Given the description of an element on the screen output the (x, y) to click on. 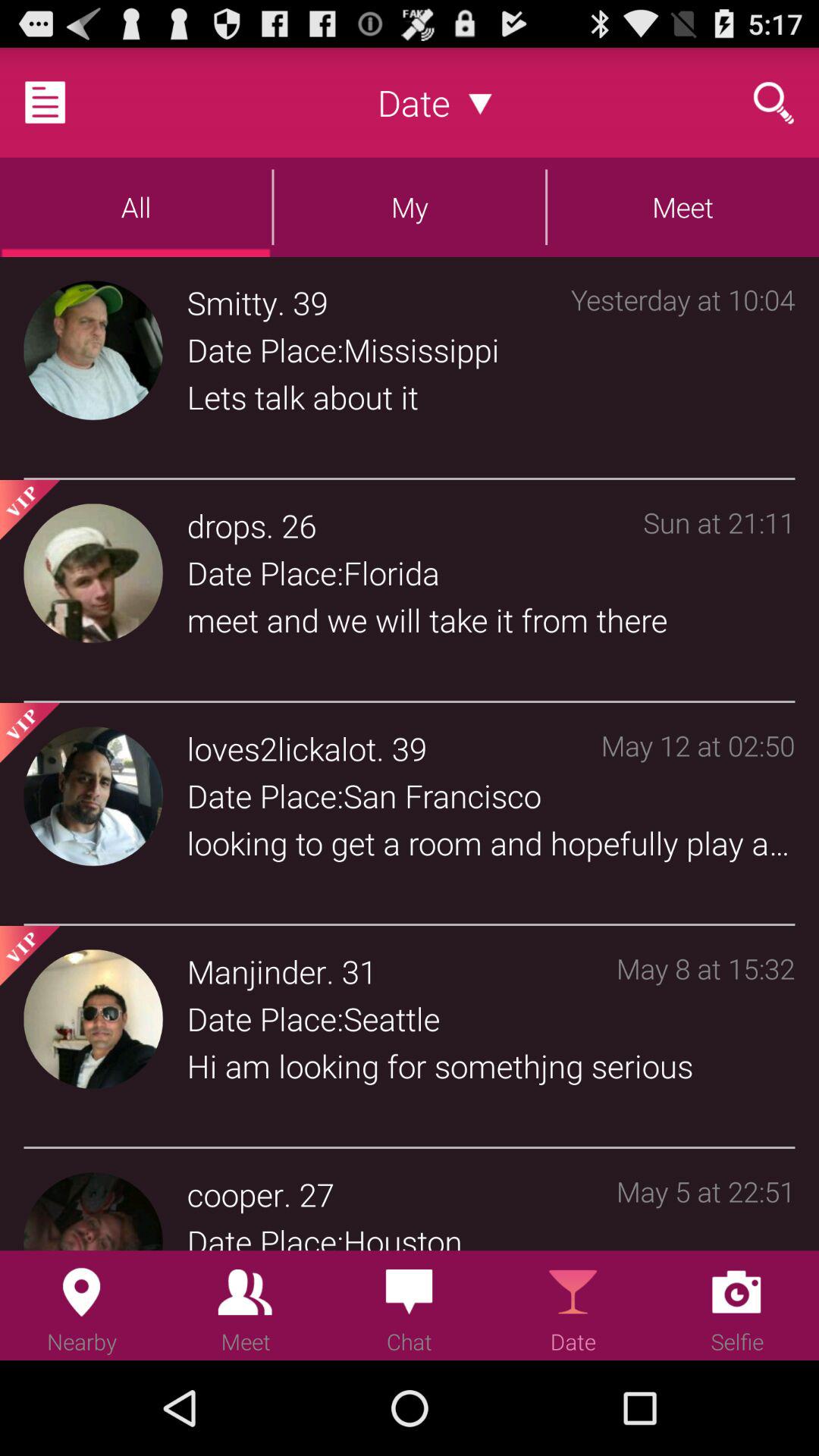
click the app to the left of the .  item (232, 302)
